Given the description of an element on the screen output the (x, y) to click on. 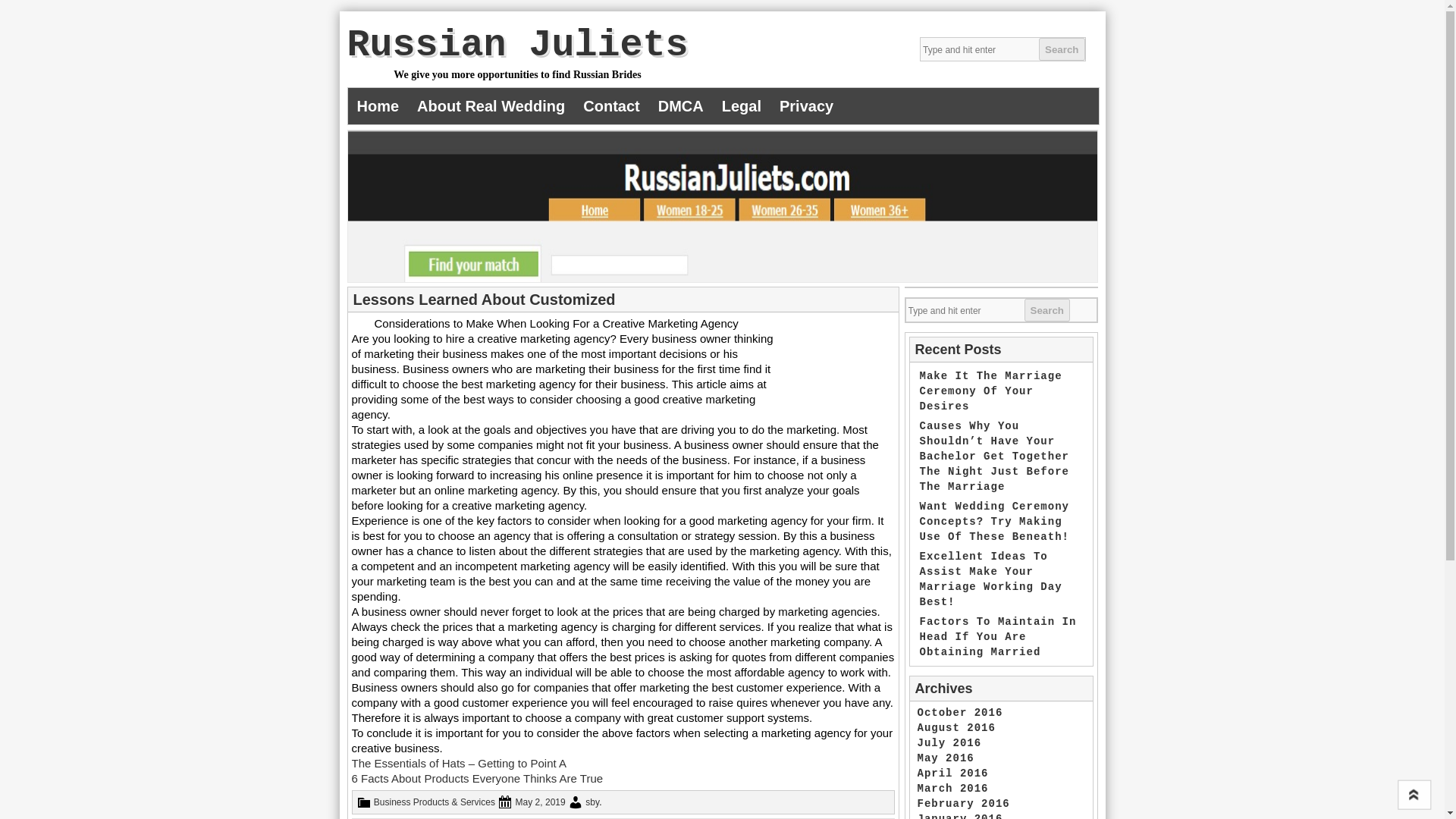
Privacy (806, 105)
Legal (741, 105)
Make It The Marriage Ceremony Of Your Desires (989, 391)
May 2, 2019 (540, 801)
Search (1045, 309)
January 2016 (960, 816)
Search (1061, 48)
April 2016 (952, 773)
About Real Wedding (490, 105)
View all posts by sby (591, 801)
October 2016 (960, 712)
8:52 pm (540, 801)
Contact (610, 105)
Factors To Maintain In Head If You Are Obtaining Married (996, 636)
